Given the description of an element on the screen output the (x, y) to click on. 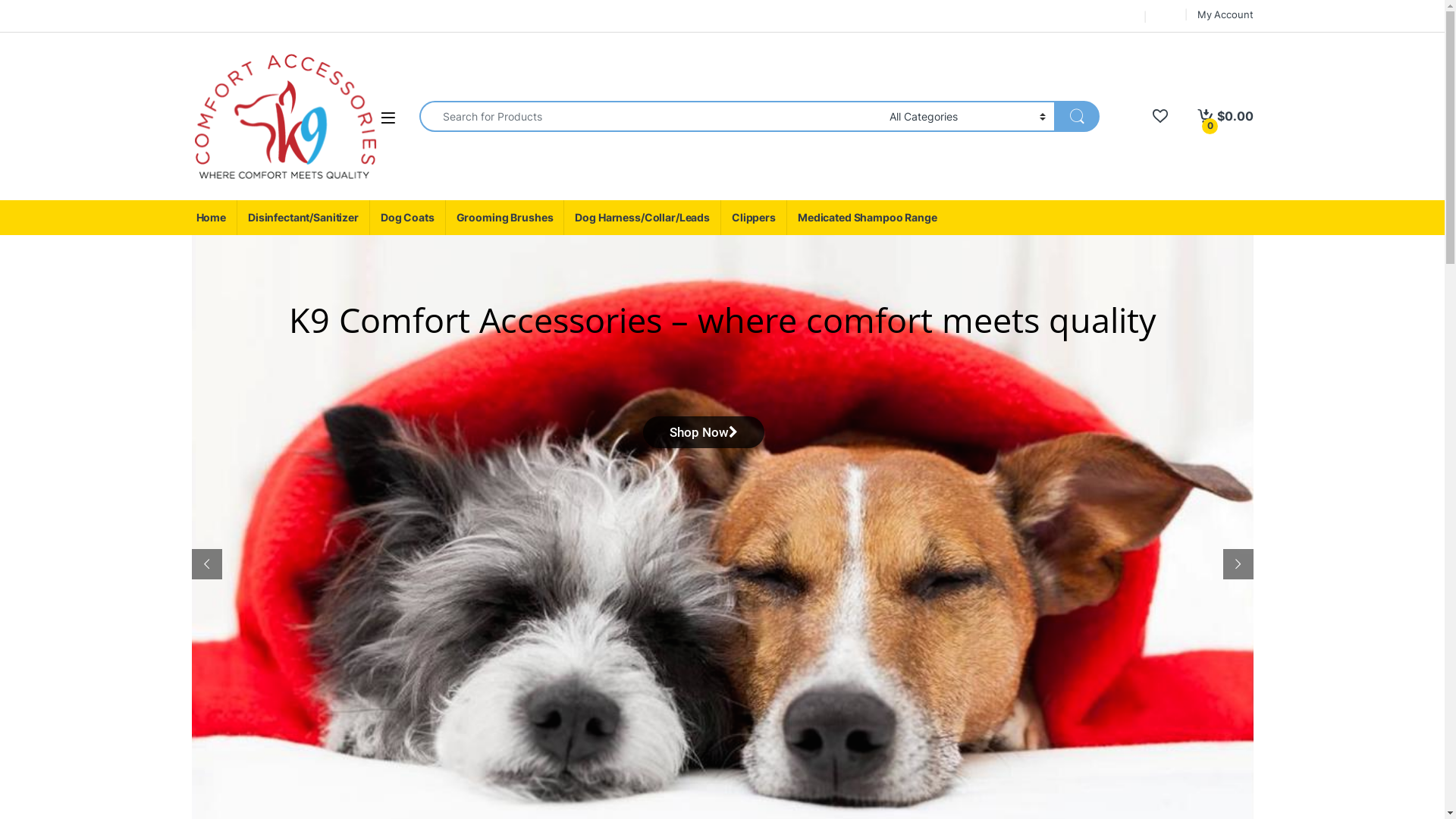
Dog Coats Element type: text (407, 217)
Disinfectant/Sanitizer Element type: text (302, 217)
Home Element type: text (210, 217)
Clippers Element type: text (753, 217)
My Account Element type: text (1225, 14)
Dog Harness/Collar/Leads Element type: text (641, 217)
Medicated Shampoo Range Element type: text (866, 217)
0
$0.00 Element type: text (1224, 116)
Grooming Brushes Element type: text (504, 217)
Shop Now Element type: text (703, 432)
